Given the description of an element on the screen output the (x, y) to click on. 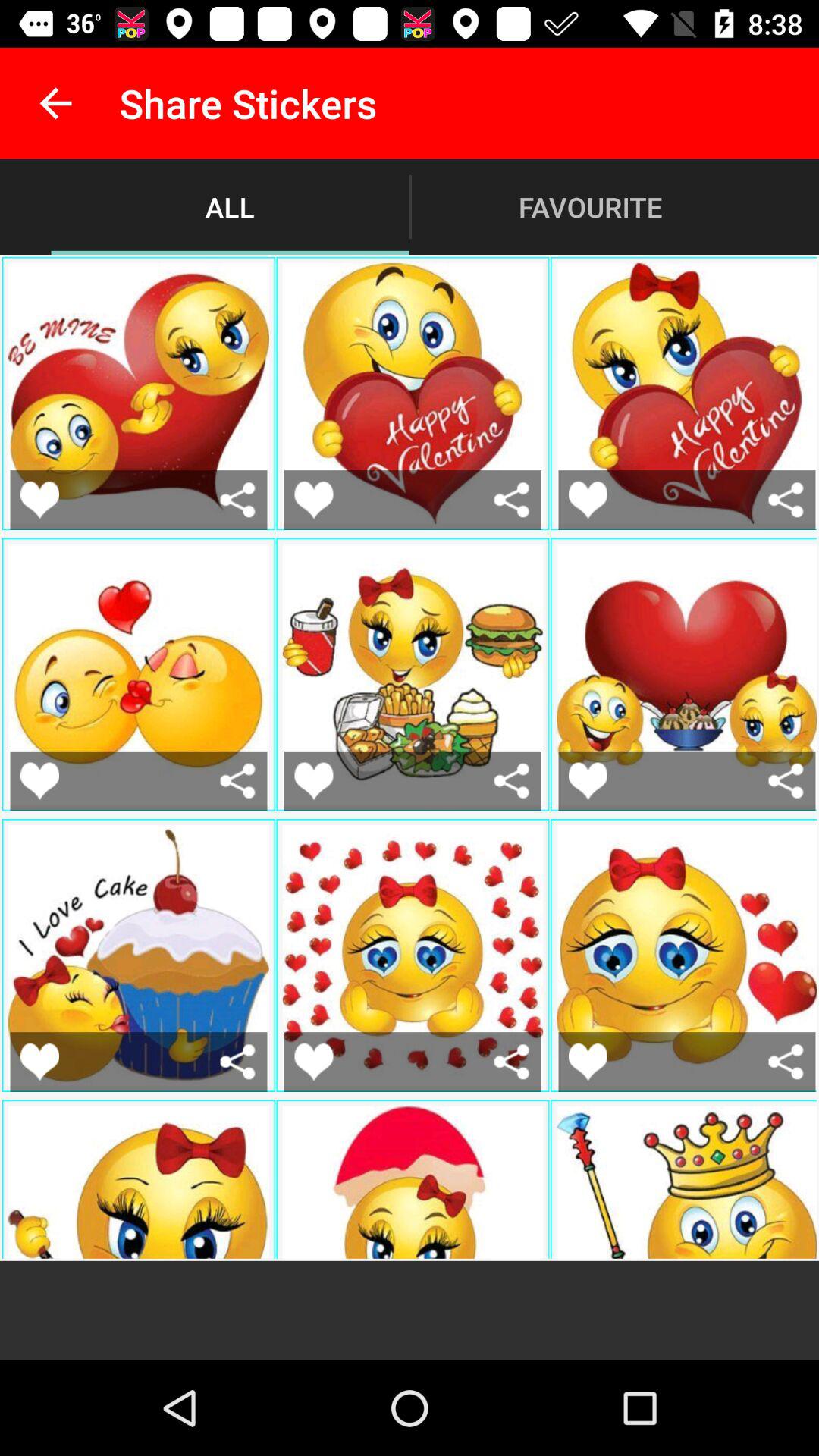
share (237, 1061)
